Given the description of an element on the screen output the (x, y) to click on. 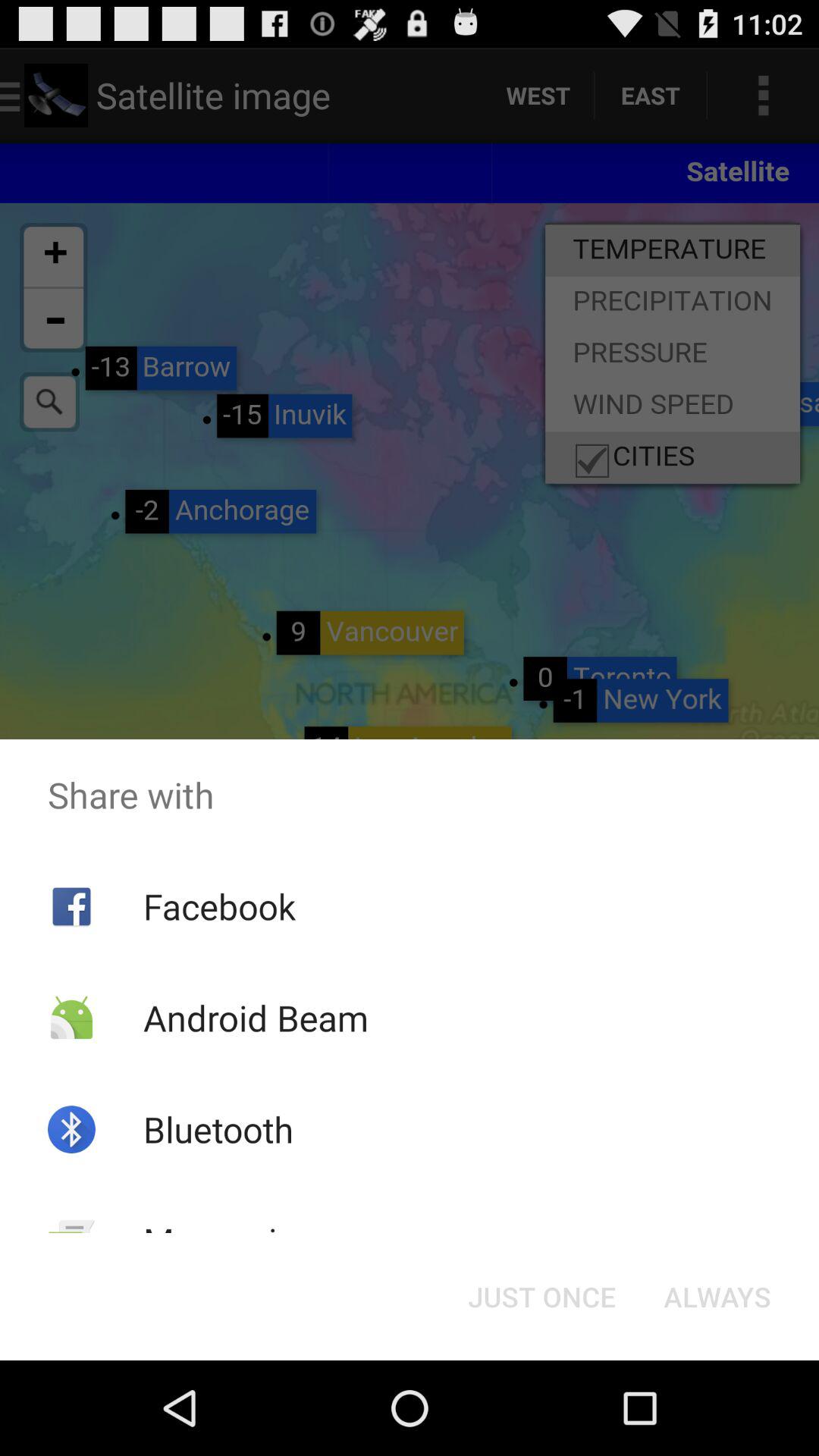
tap the icon to the left of the always button (541, 1296)
